Given the description of an element on the screen output the (x, y) to click on. 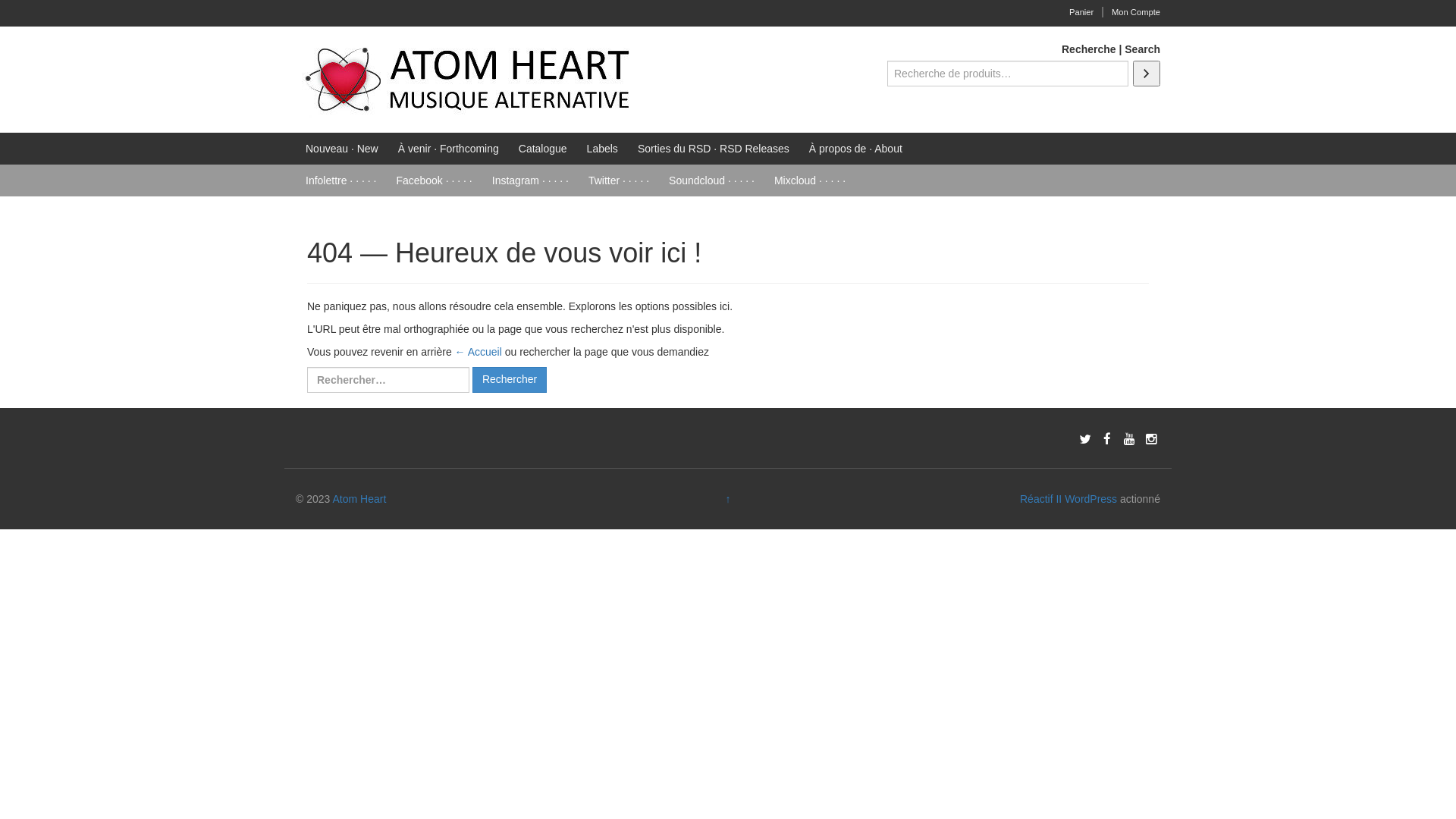
Labels Element type: text (602, 148)
WordPress Element type: text (1090, 498)
Catalogue Element type: text (542, 148)
Atom Heart Element type: text (358, 498)
Panier Element type: text (1081, 11)
Atom Heart Element type: hover (466, 78)
Rechercher Element type: text (509, 379)
Mon Compte Element type: text (1135, 11)
